Given the description of an element on the screen output the (x, y) to click on. 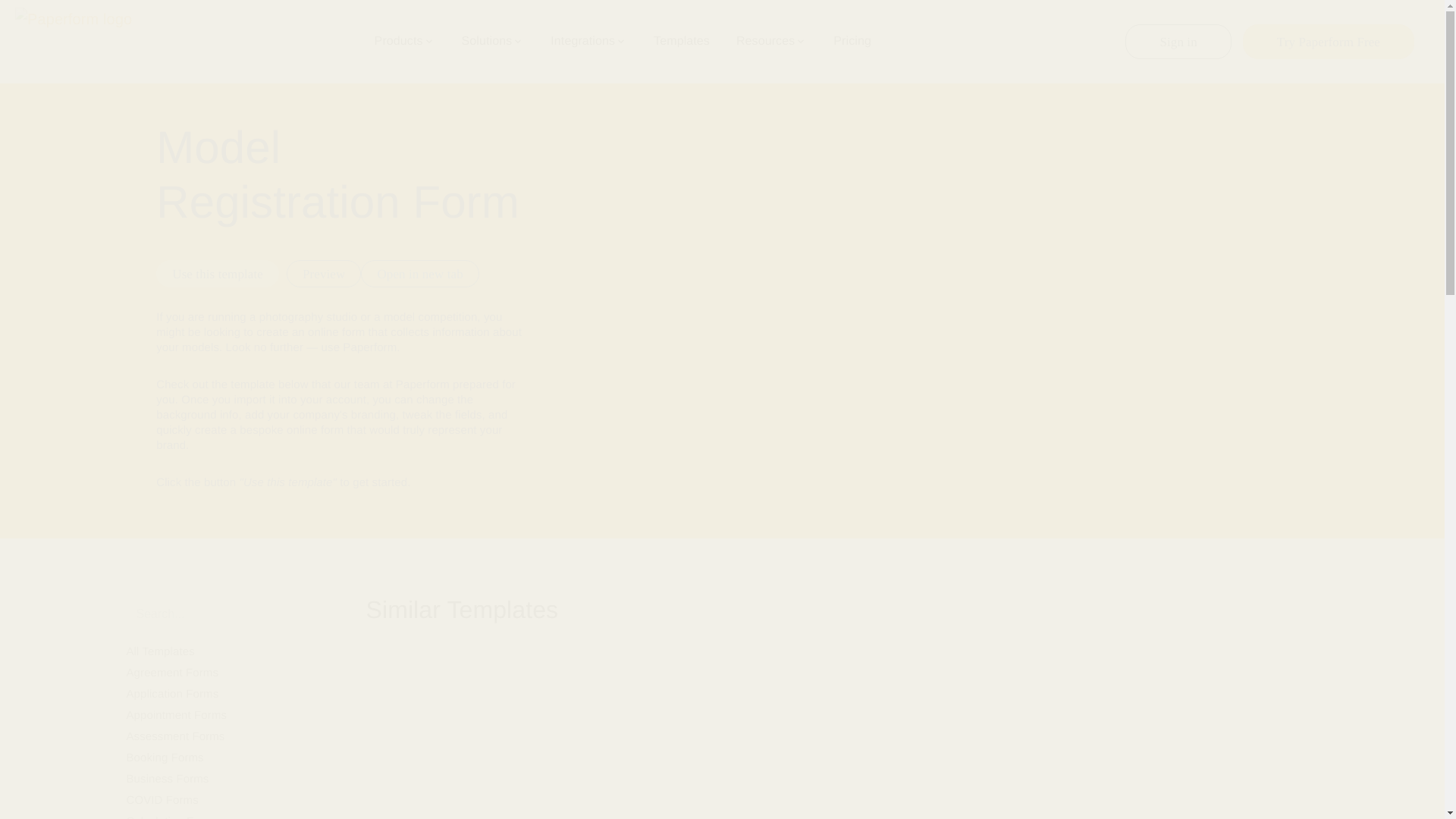
Templates (682, 41)
Try Paperform Free (1328, 41)
Sign in (1177, 41)
Pricing (852, 41)
